Given the description of an element on the screen output the (x, y) to click on. 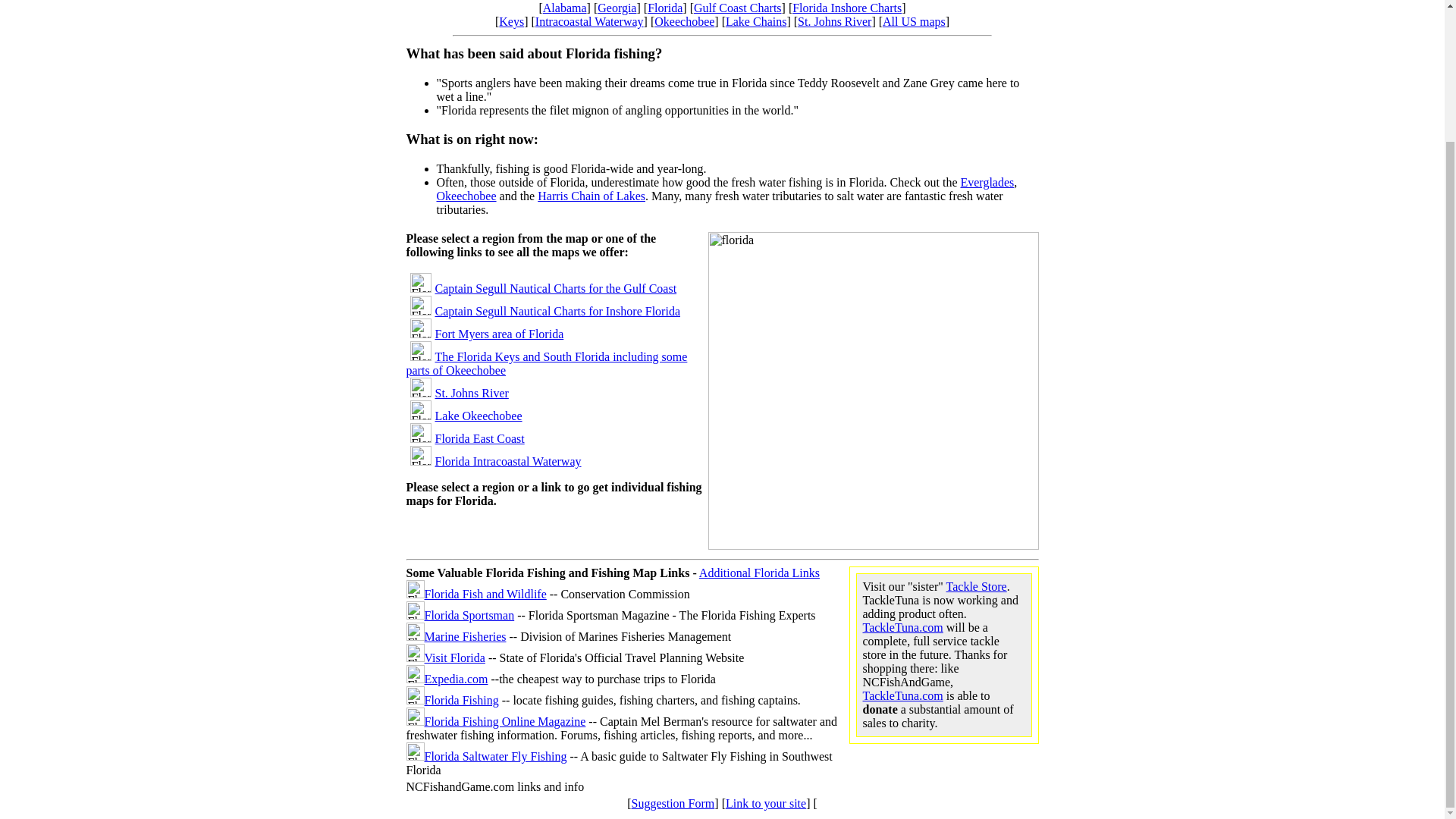
Okeechobee (683, 21)
TackleTuna.com (903, 626)
Florida Fishing (462, 699)
Harris Chain of Lakes (591, 195)
Additional Florida Links (758, 572)
Florida Fishing Online Magazine (505, 721)
Everglades (986, 182)
Intracoastal Waterway (589, 21)
Marine Fisheries (465, 635)
Florida (664, 7)
Okeechobee (466, 195)
Lake Okeechobee (478, 415)
Keys (511, 21)
All US maps (913, 21)
Captain Segull Nautical Charts for the Gulf Coast (556, 287)
